Given the description of an element on the screen output the (x, y) to click on. 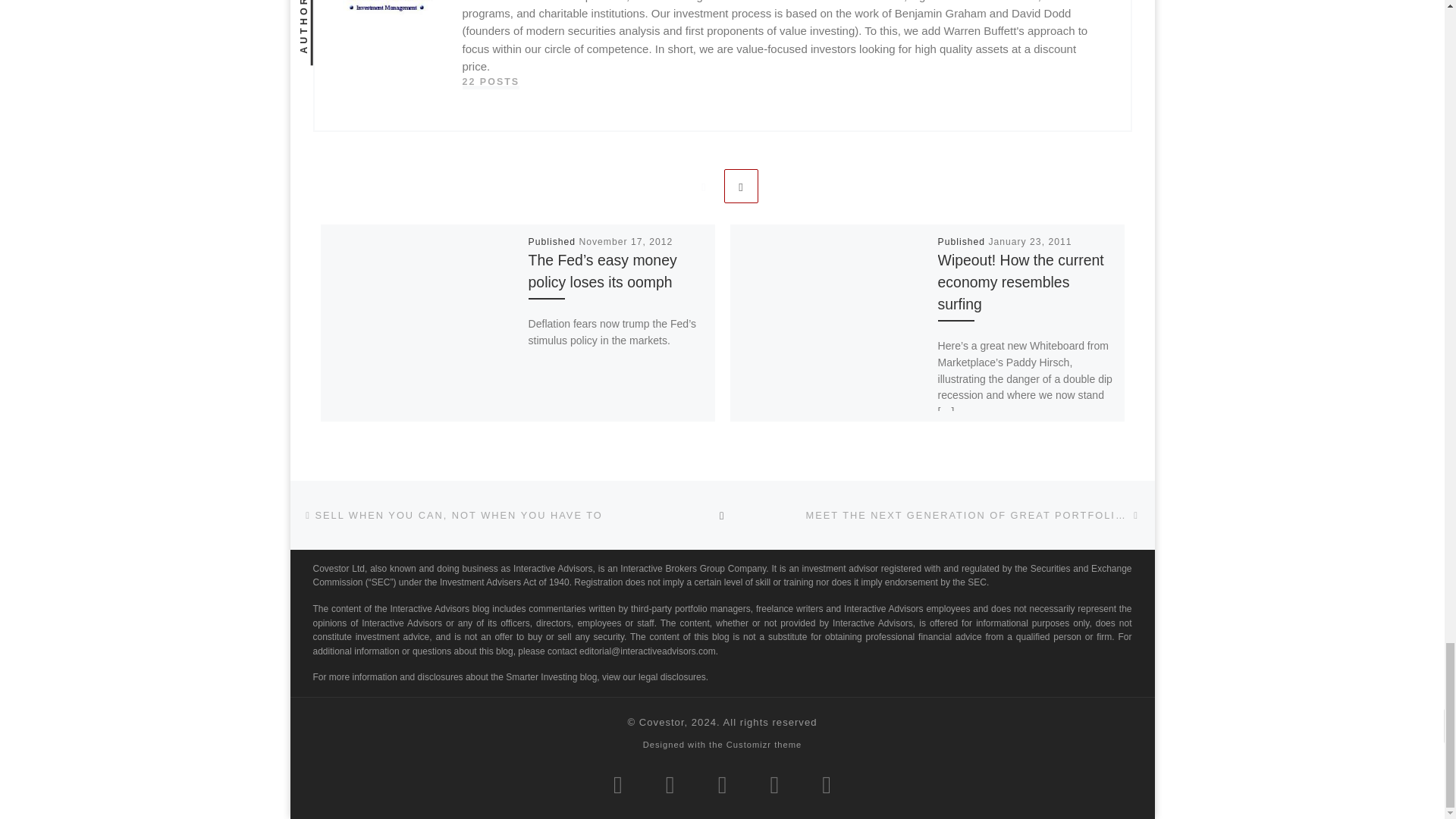
Customizr theme (764, 744)
Next related articles (740, 185)
Previous related articles (702, 185)
Smarter Investing (661, 722)
View all the posts of the author (491, 82)
November 17, 2012 (625, 241)
22 POSTS (491, 82)
